Given the description of an element on the screen output the (x, y) to click on. 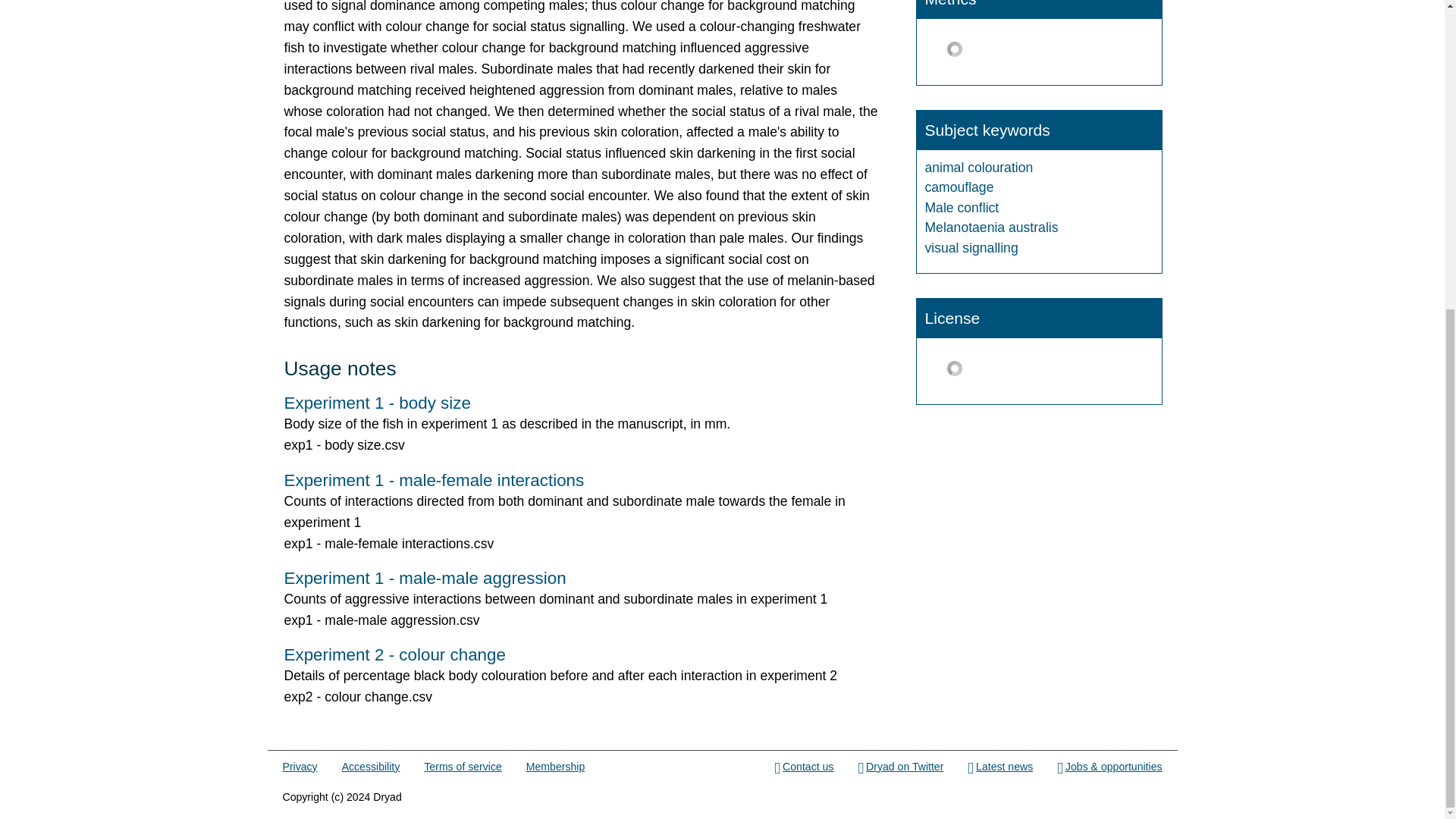
Terms of service (461, 767)
Privacy (299, 767)
Accessibility (371, 767)
